Given the description of an element on the screen output the (x, y) to click on. 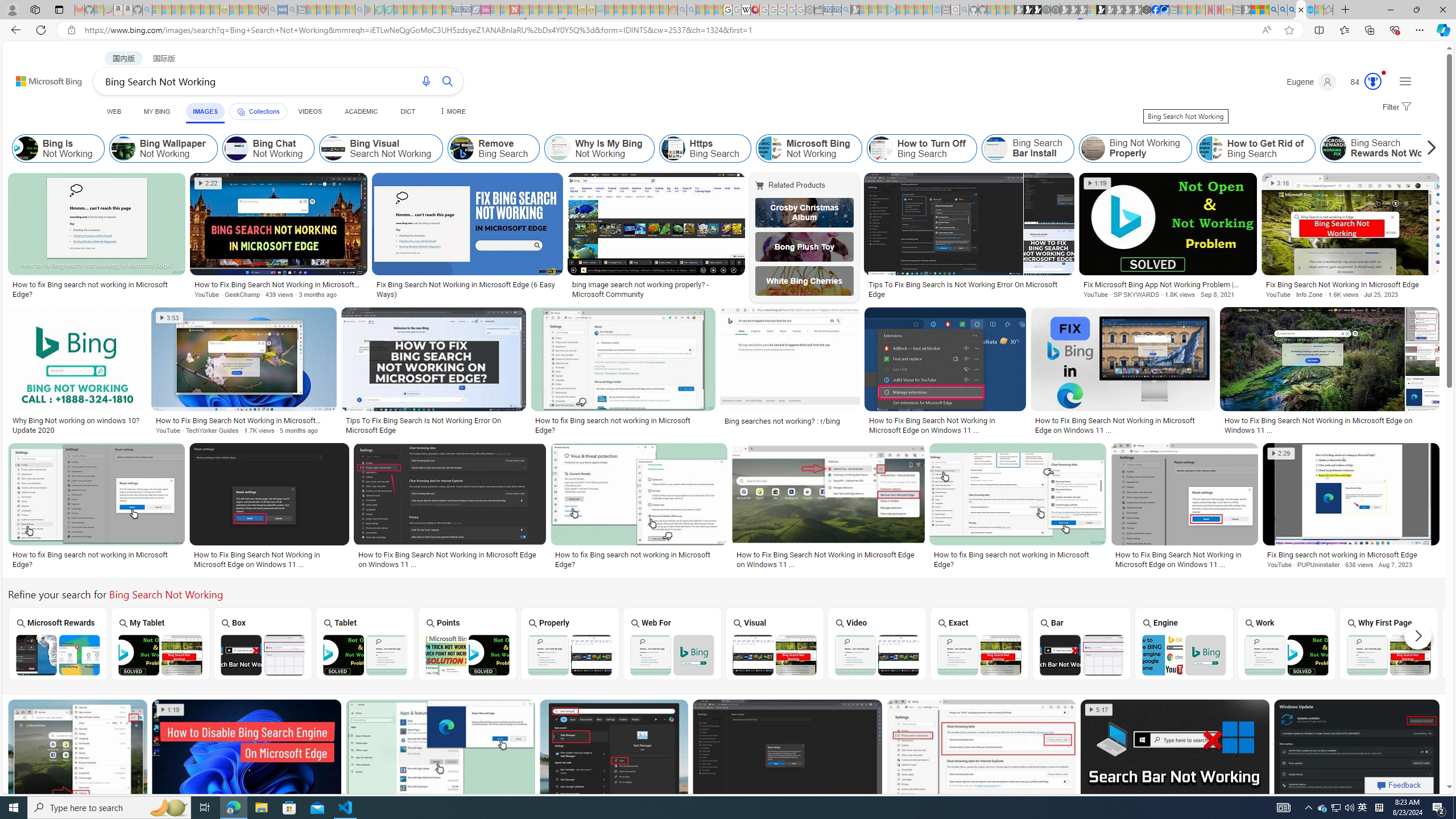
Engine (1184, 643)
Scroll right (1428, 148)
Bing Exact Search Not Working Exact (978, 643)
Bing Search Bar Not Working (1080, 655)
